Given the description of an element on the screen output the (x, y) to click on. 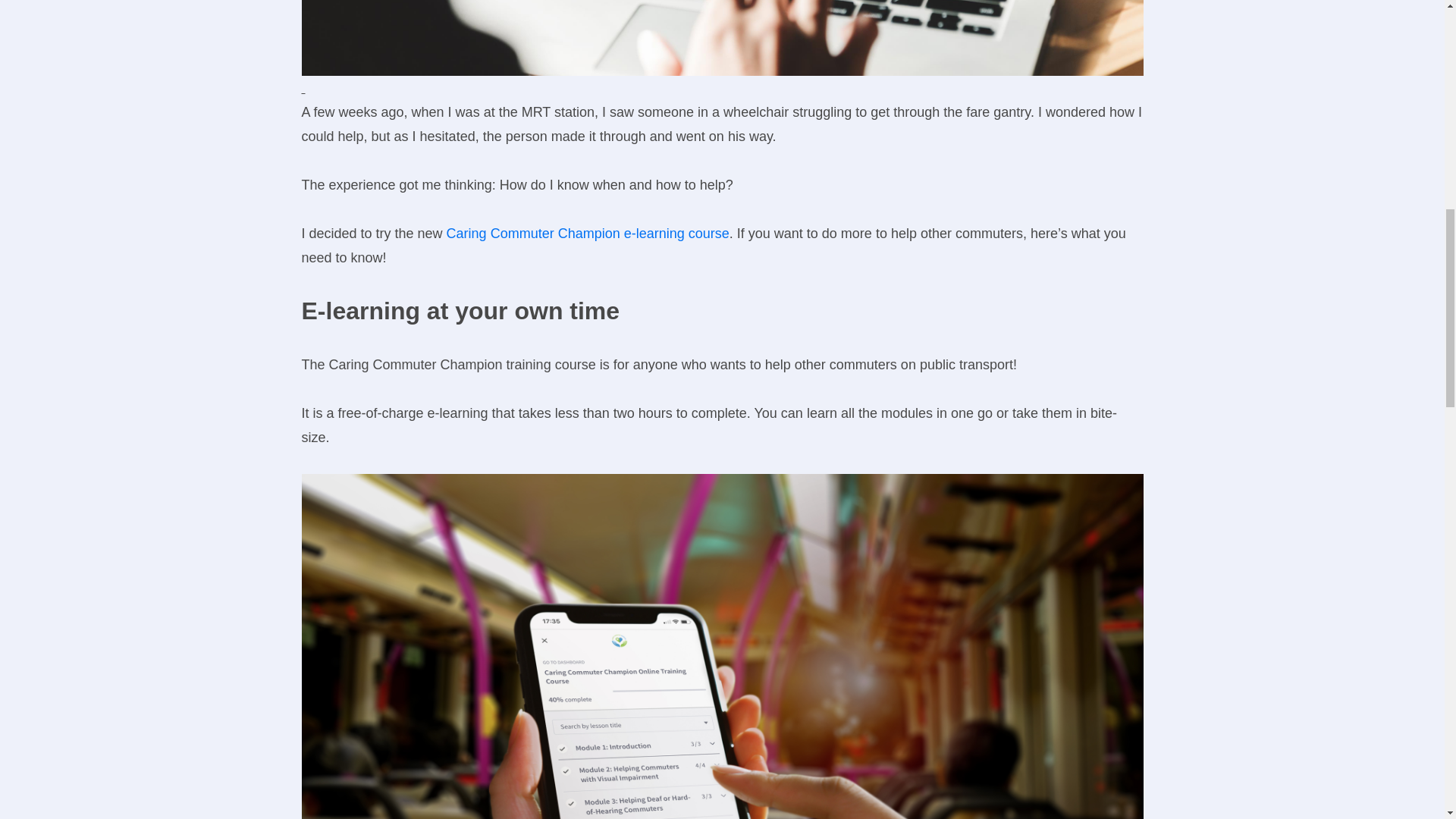
Caring Commuter Champion e-learning course (587, 233)
